Given the description of an element on the screen output the (x, y) to click on. 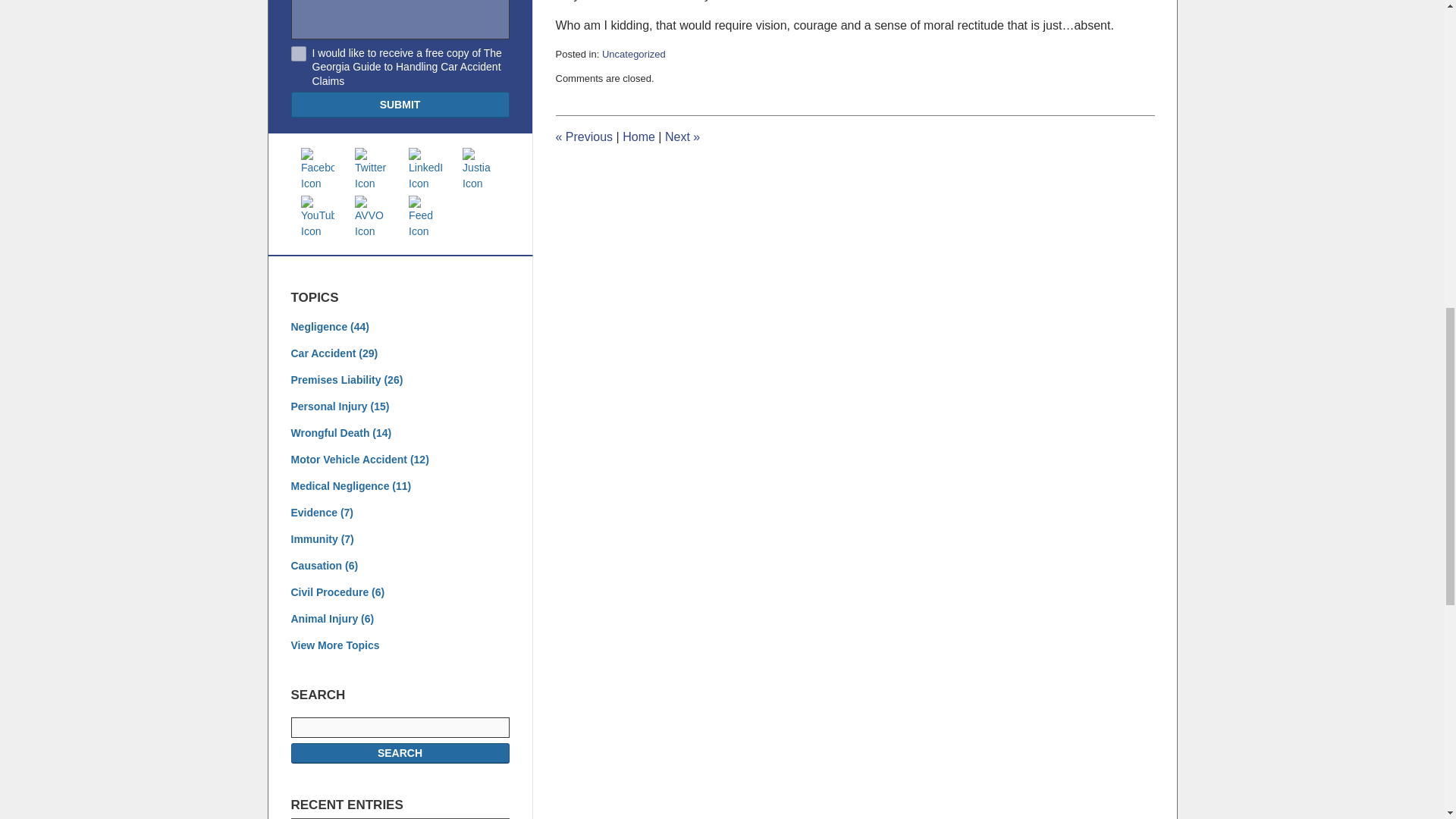
Home (639, 136)
View all posts in Uncategorized (633, 53)
SUBMIT (400, 104)
Uncategorized (633, 53)
